Given the description of an element on the screen output the (x, y) to click on. 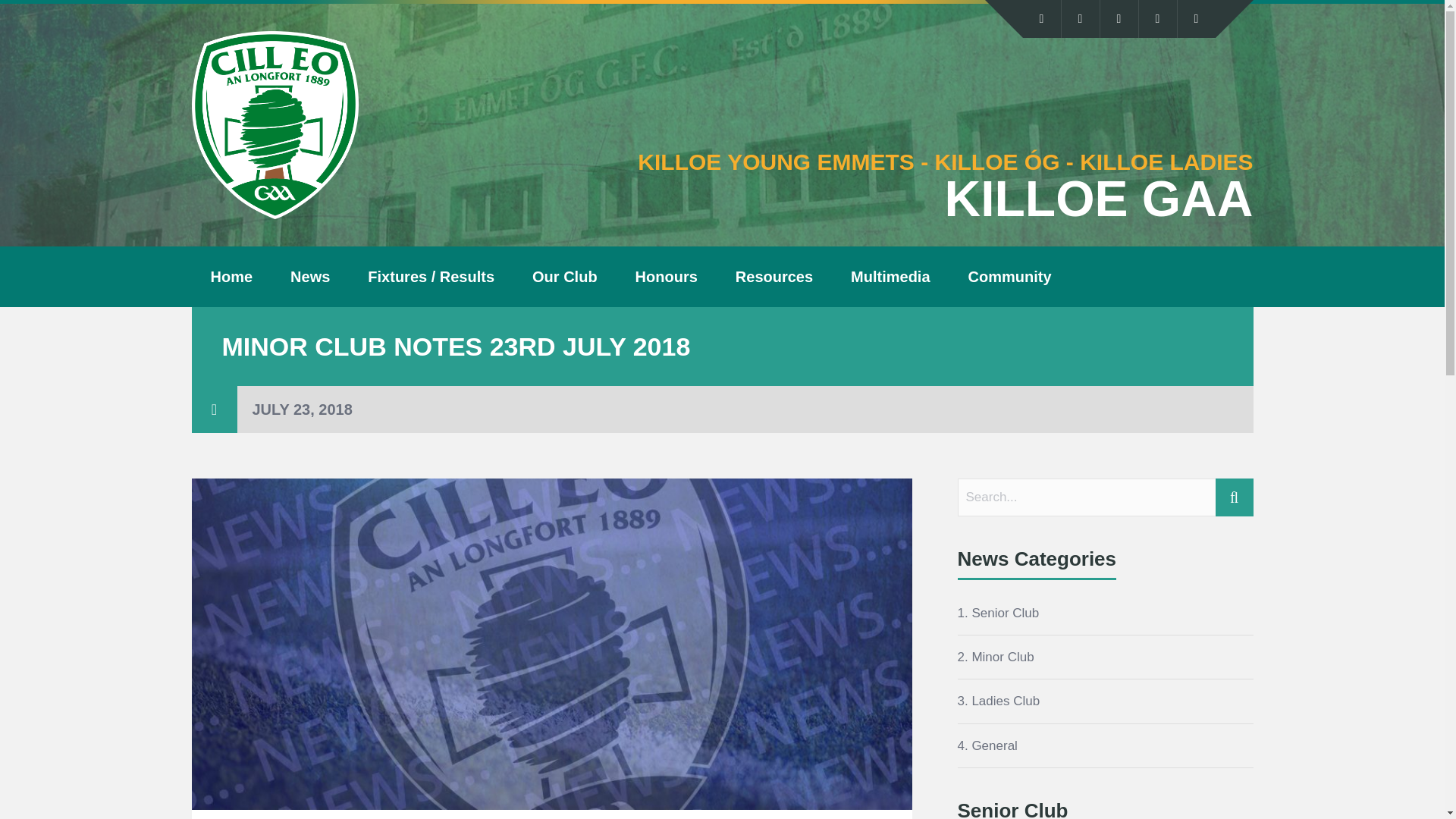
Our Club (564, 276)
Honours (665, 276)
